Given the description of an element on the screen output the (x, y) to click on. 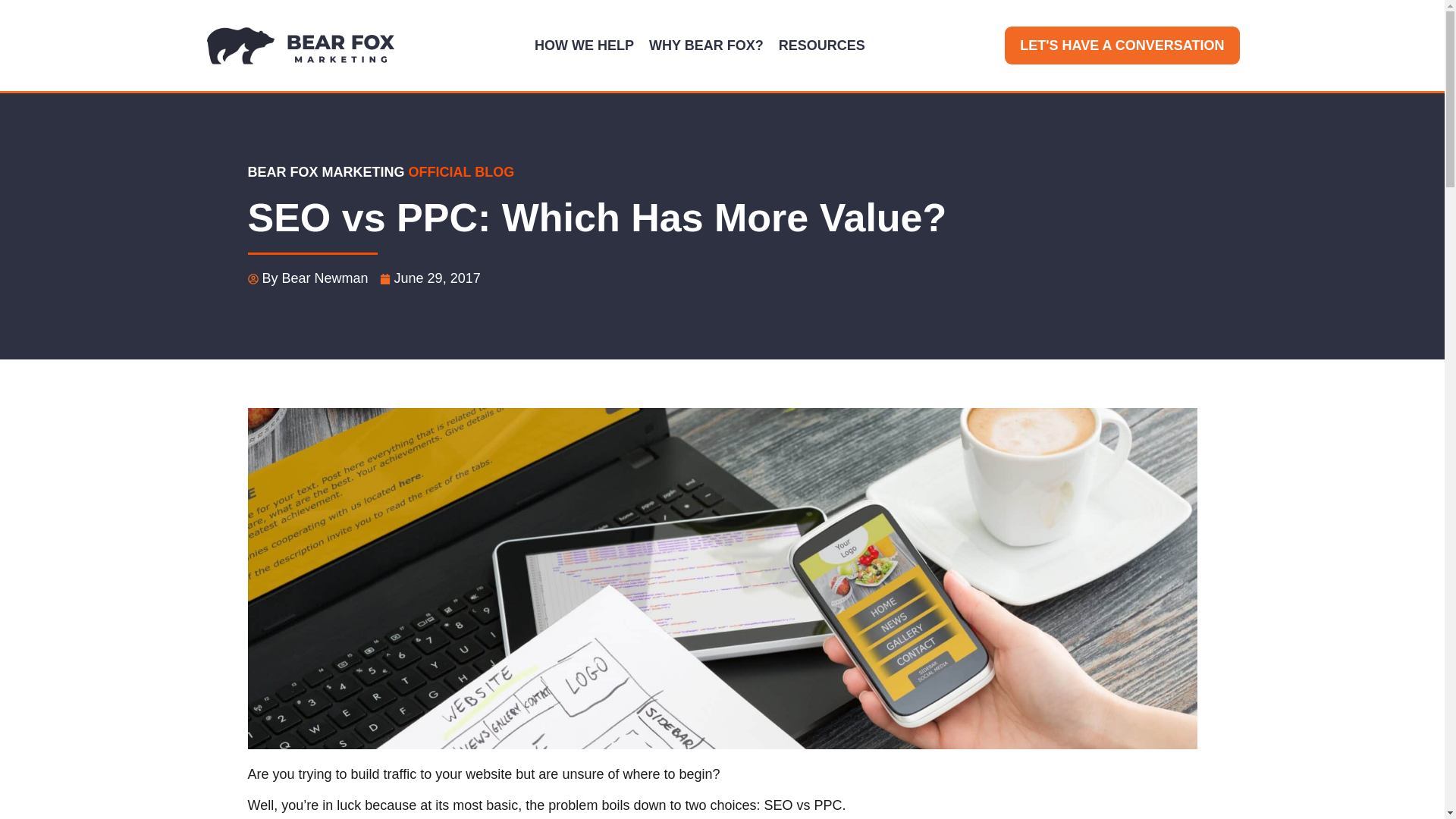
WHY BEAR FOX? (706, 45)
RESOURCES (821, 45)
HOW WE HELP (584, 45)
